Given the description of an element on the screen output the (x, y) to click on. 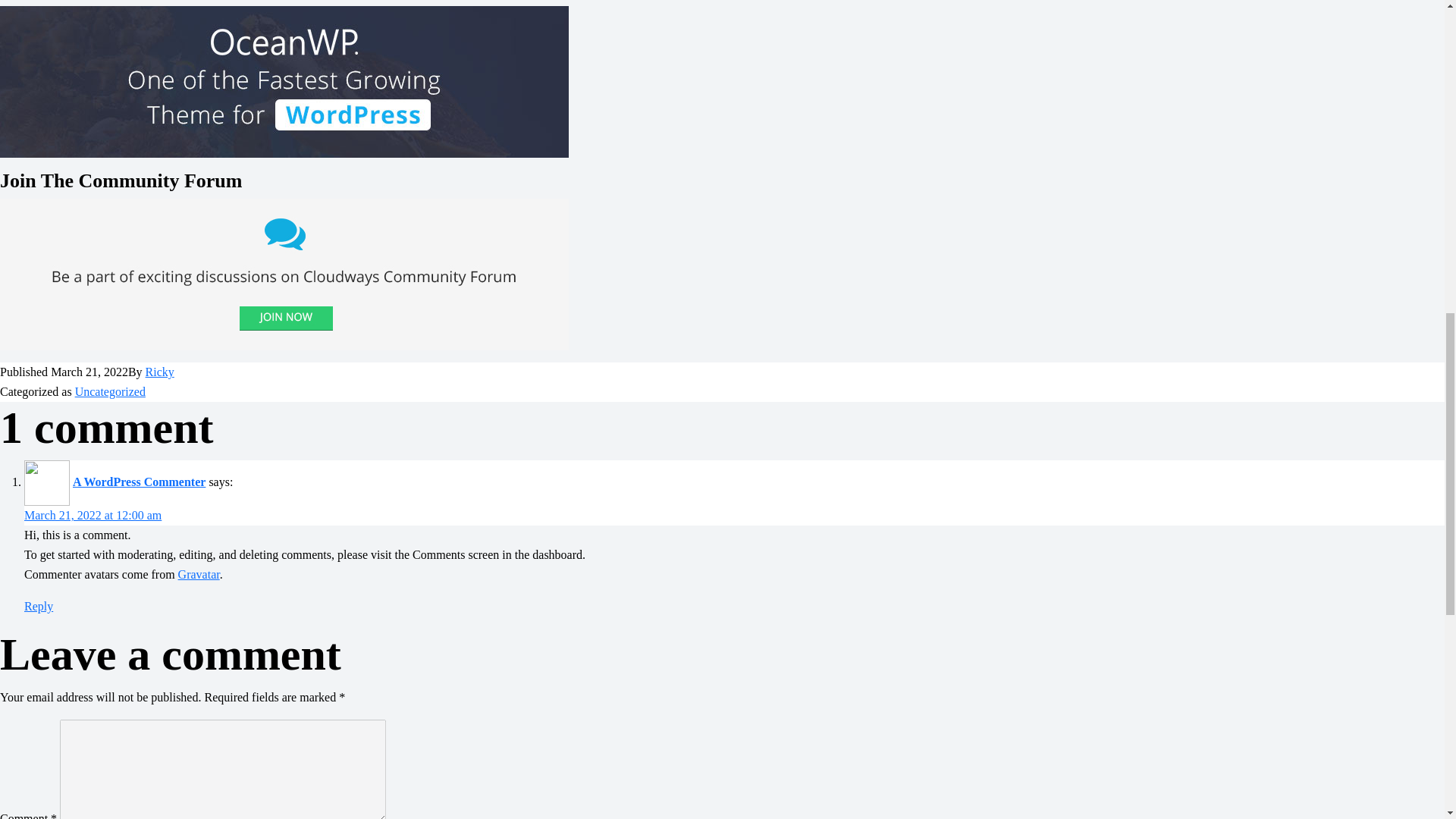
A WordPress Commenter (138, 481)
Ricky (159, 371)
March 21, 2022 at 12:00 am (92, 514)
Gravatar (198, 574)
Reply (38, 605)
Uncategorized (110, 391)
